Given the description of an element on the screen output the (x, y) to click on. 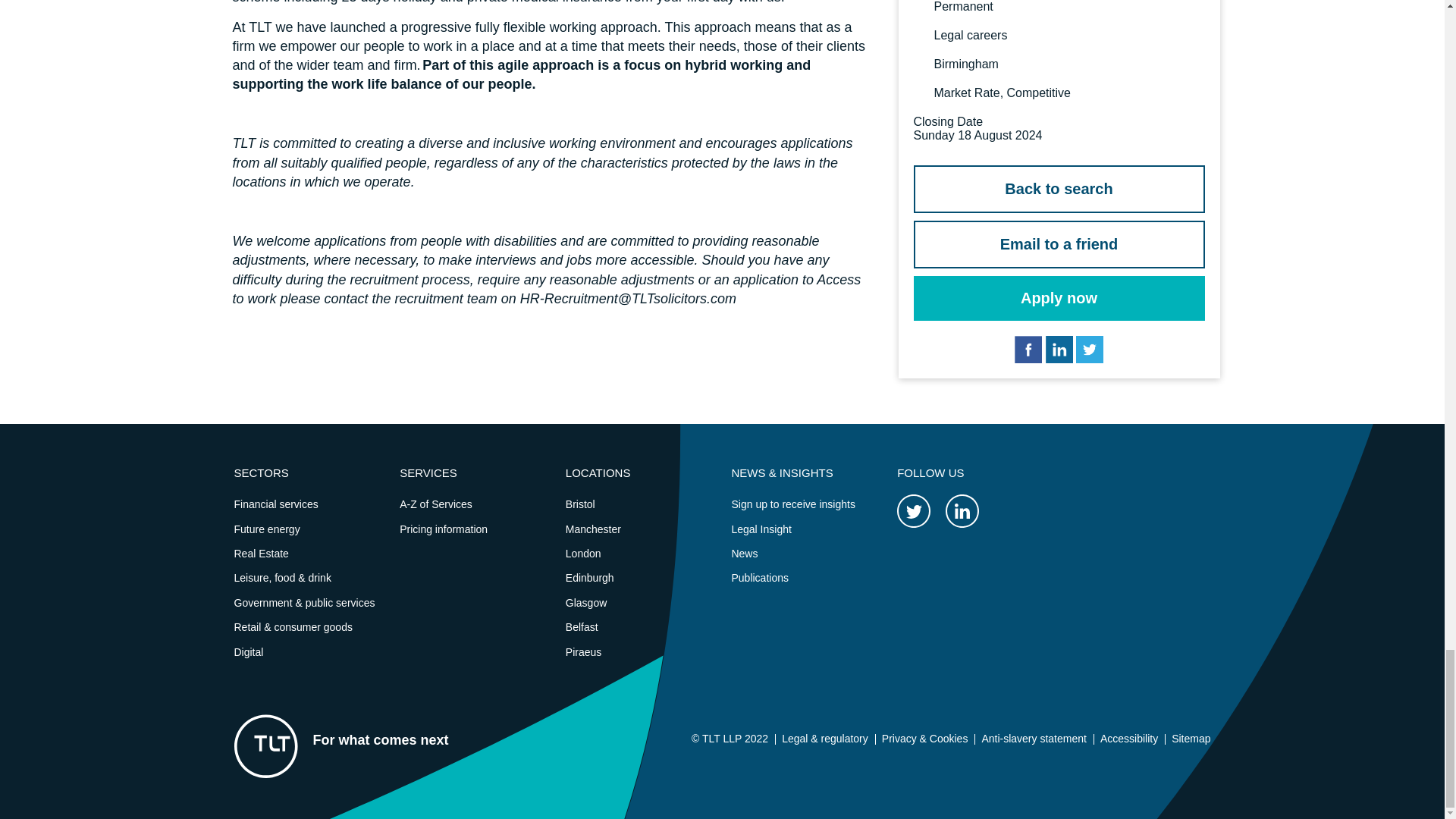
Pricing information (442, 529)
